Given the description of an element on the screen output the (x, y) to click on. 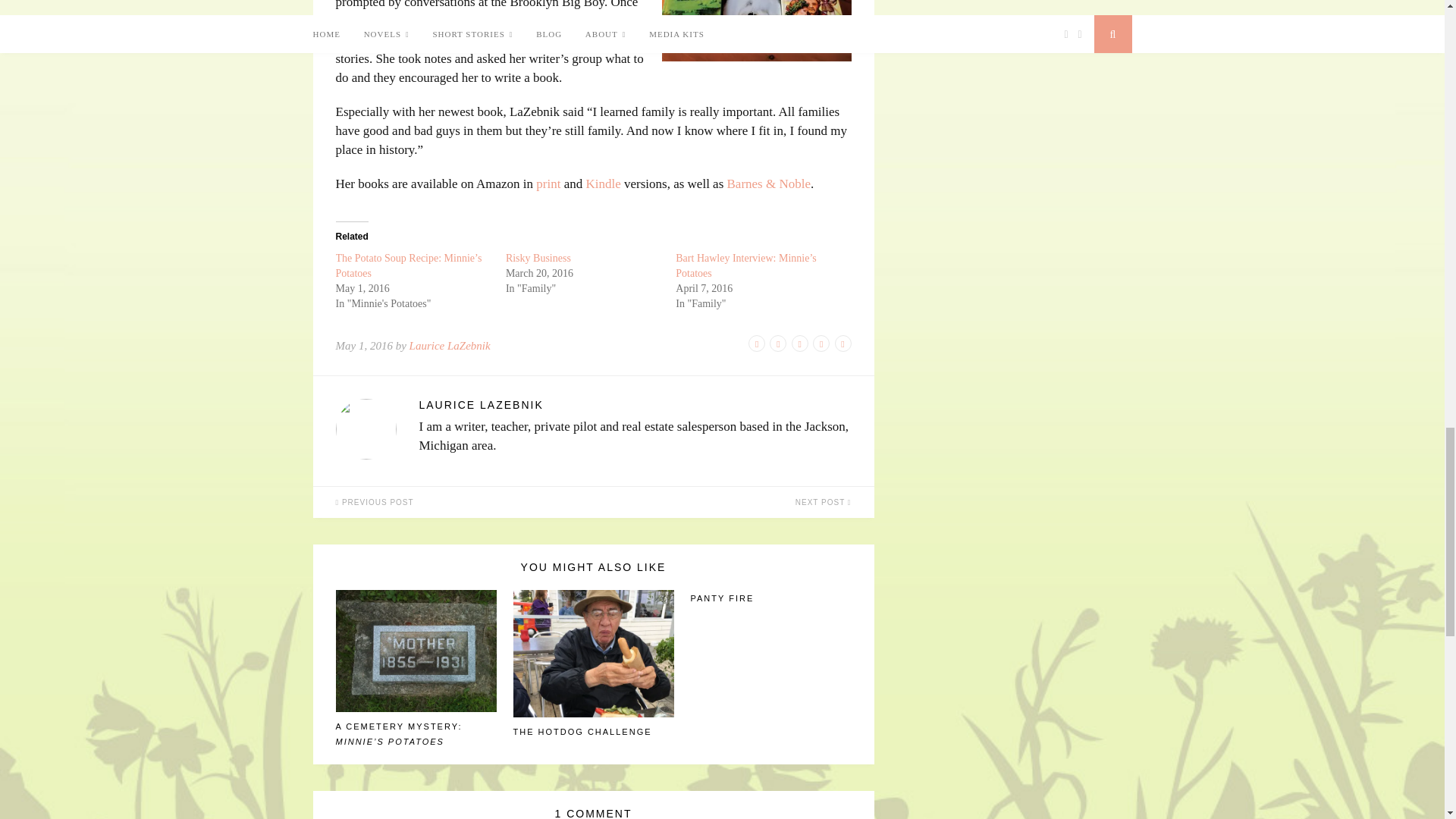
Risky Business (537, 257)
Posts by Laurice LaZebnik (449, 345)
Posts by Laurice LaZebnik (634, 404)
